Given the description of an element on the screen output the (x, y) to click on. 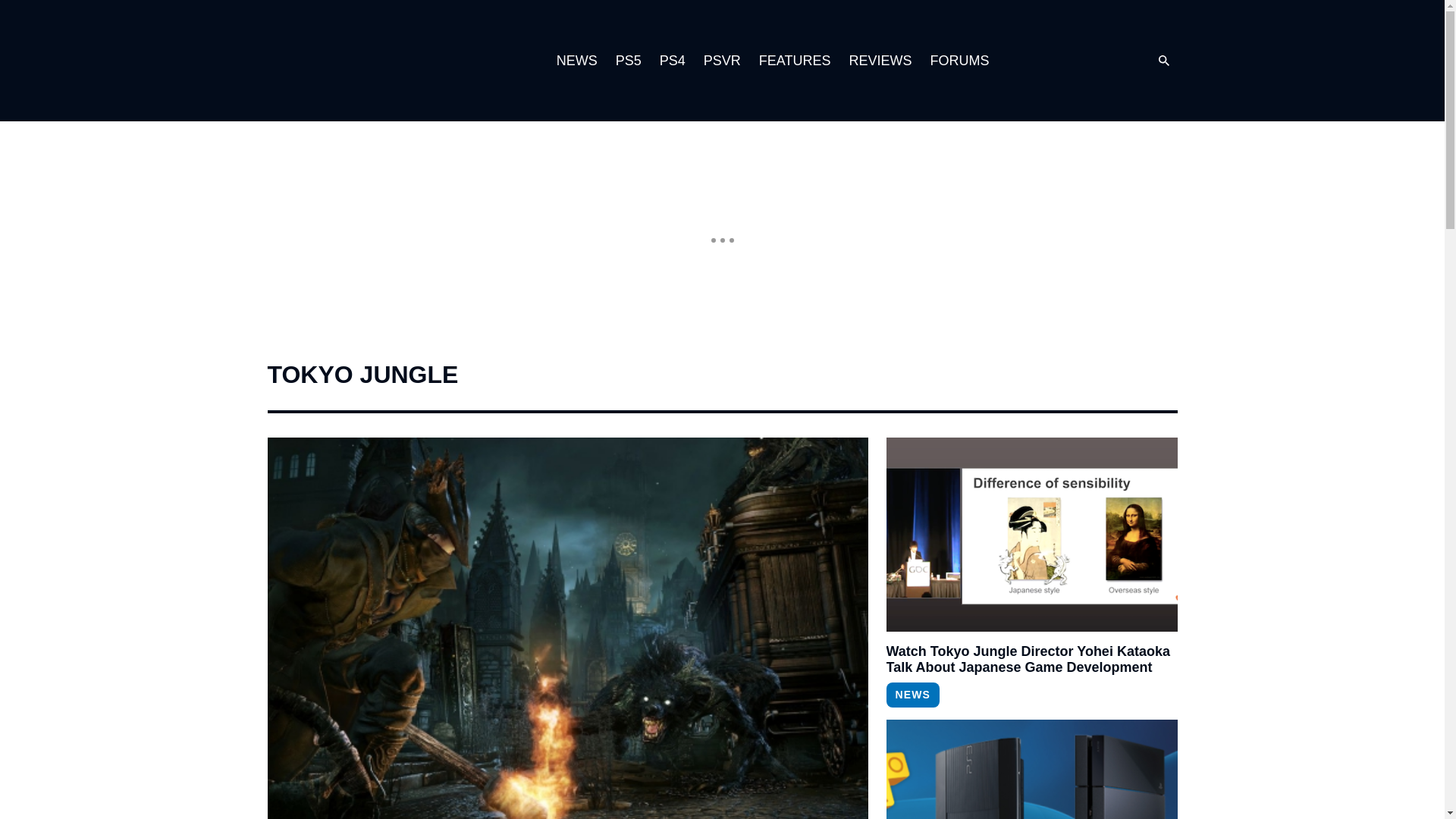
FORUMS (958, 60)
Facebook (1109, 60)
NEWS (577, 60)
Twitter (1079, 60)
Instagram (1048, 60)
NEWS (912, 694)
FEATURES (794, 60)
